Given the description of an element on the screen output the (x, y) to click on. 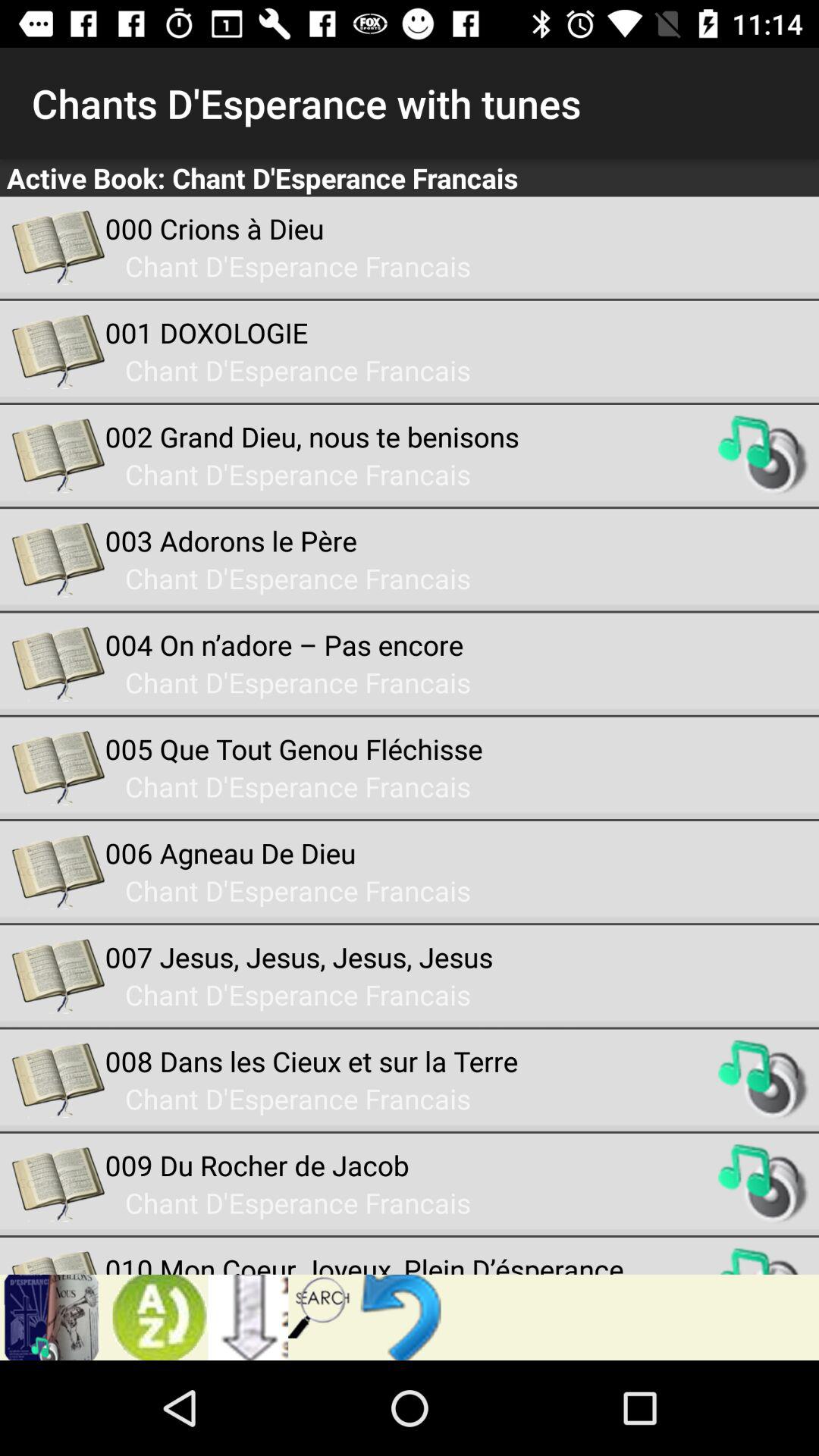
go back (404, 1317)
